Given the description of an element on the screen output the (x, y) to click on. 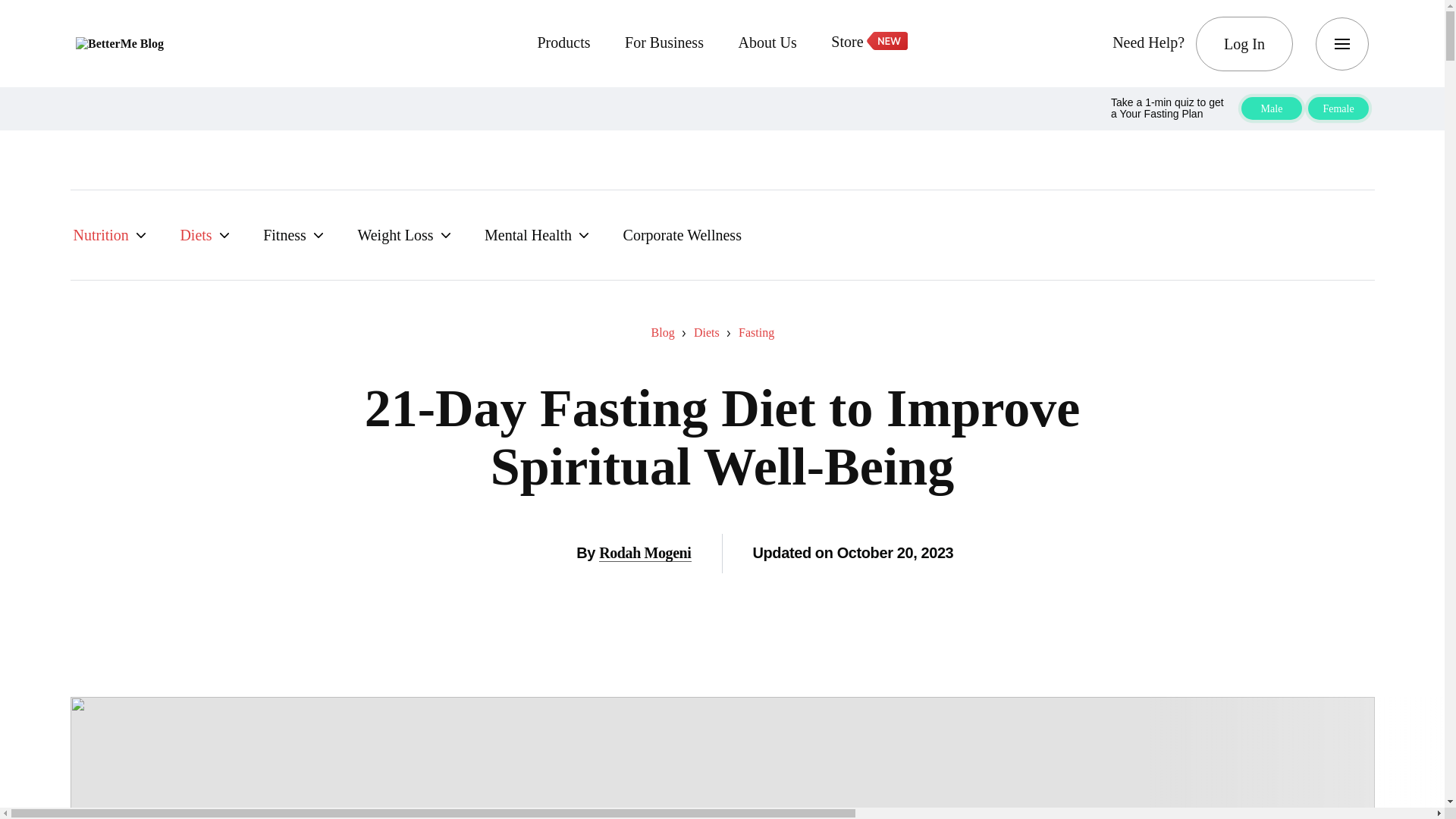
Products (563, 44)
Store (868, 43)
About Us (767, 44)
Log In (1243, 43)
Need Help? (1147, 44)
Female (1337, 108)
Male (1271, 108)
Nutrition (109, 235)
Fitness (292, 235)
For Business (664, 44)
